Given the description of an element on the screen output the (x, y) to click on. 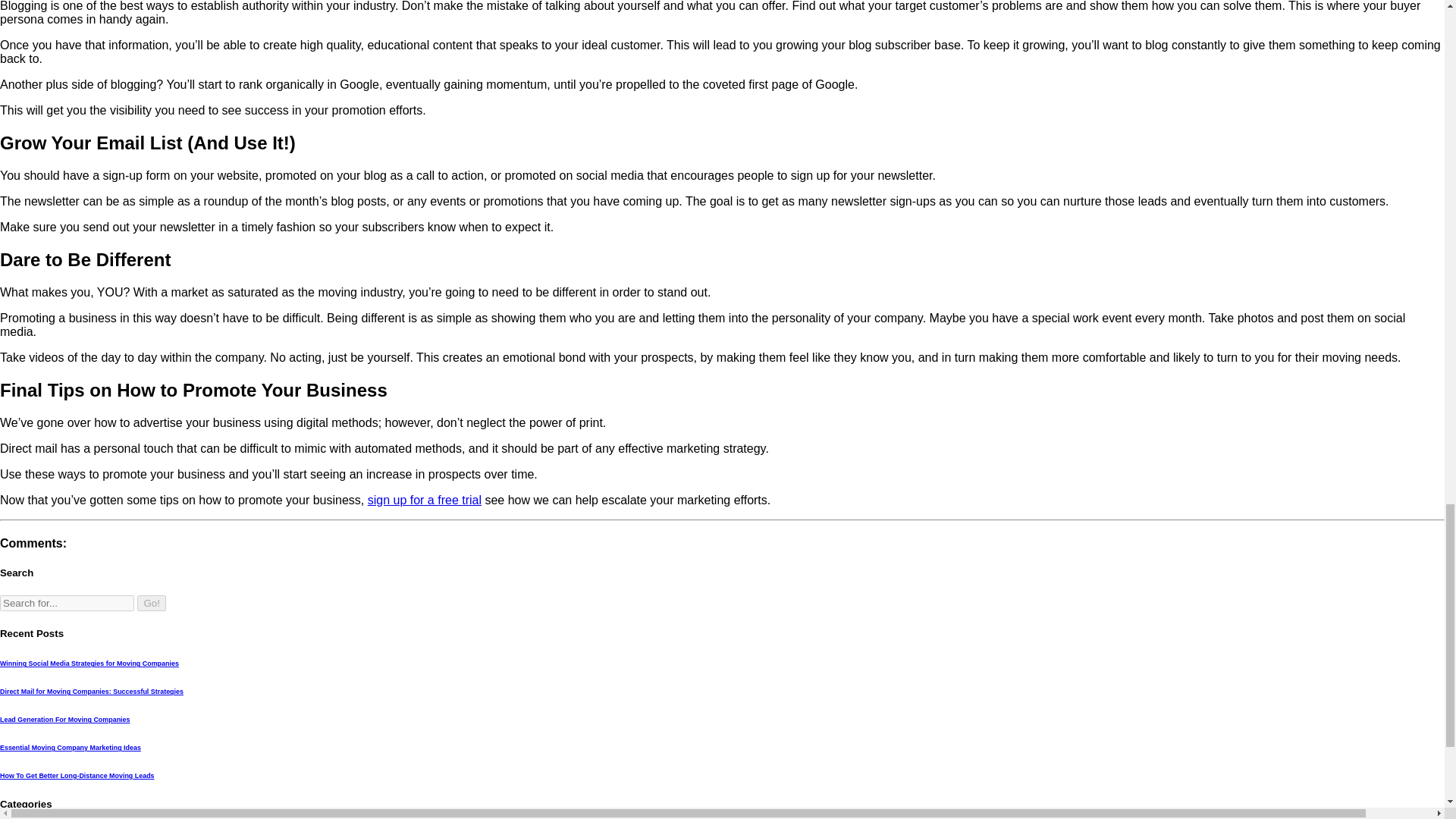
Essential Moving Company Marketing Ideas (70, 747)
Go! (150, 602)
Lead Generation For Moving Companies (65, 719)
sign up for a free trial (424, 499)
Winning Social Media Strategies for Moving Companies (89, 663)
Direct Mail for Moving Companies: Successful Strategies (91, 691)
How To Get Better Long-Distance Moving Leads (77, 775)
